Given the description of an element on the screen output the (x, y) to click on. 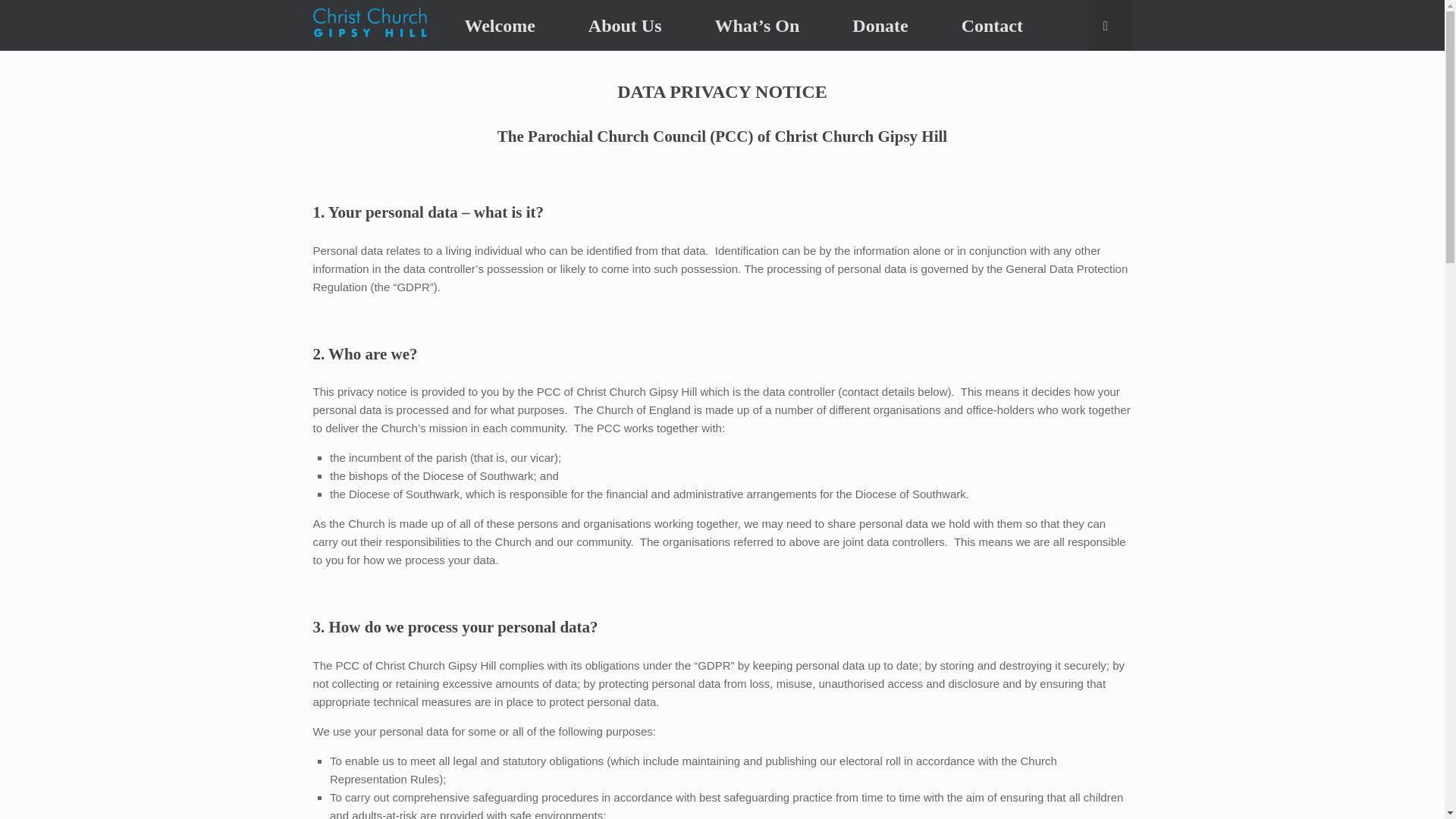
Christ Church Gipsy Hill (369, 25)
About Us (625, 25)
Welcome (500, 25)
Donate (879, 25)
Contact (991, 25)
